Given the description of an element on the screen output the (x, y) to click on. 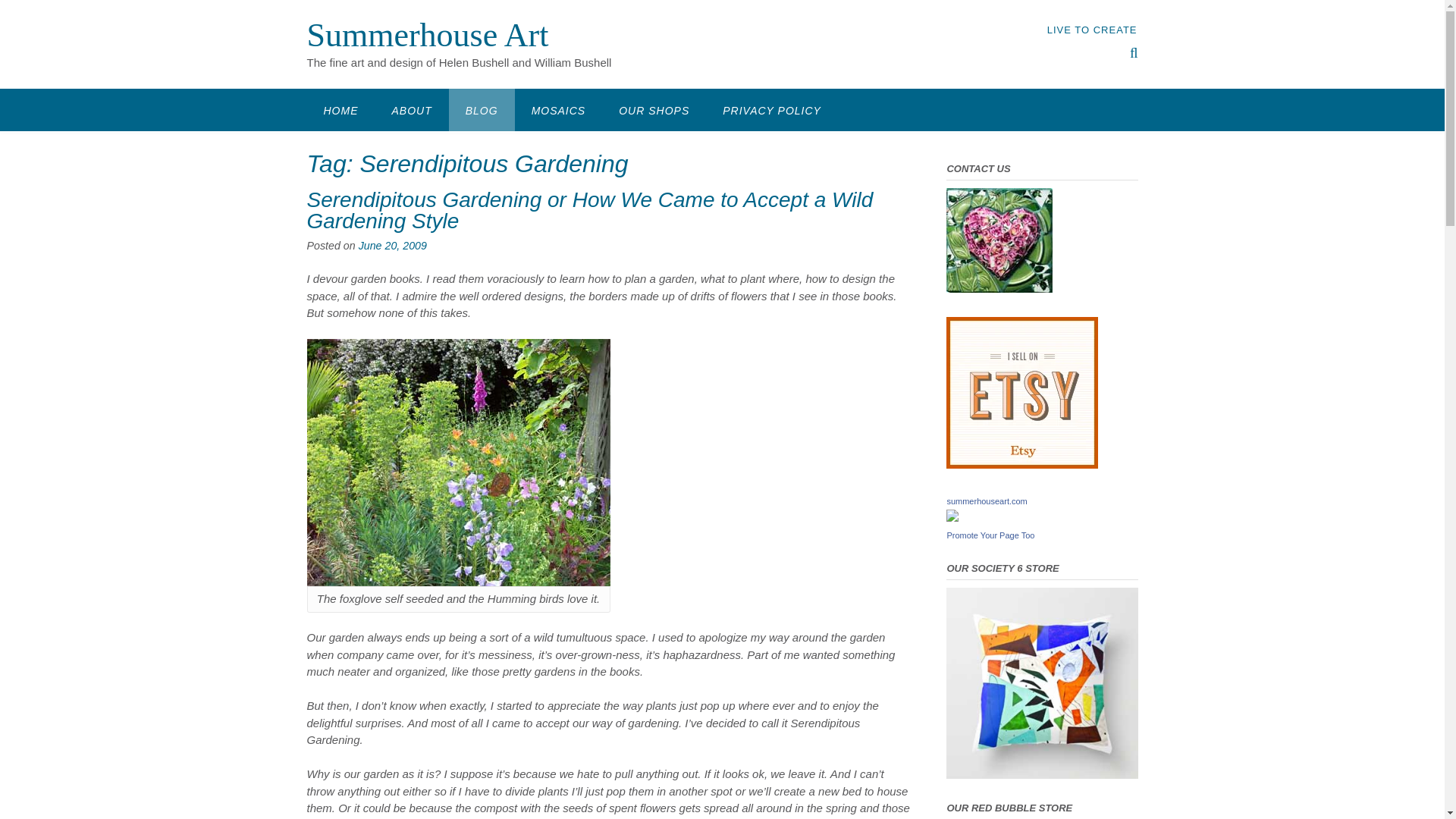
summerhouseart.com (986, 501)
euphorbia and foxglove (457, 462)
ABOUT (411, 109)
summerhouseart.com (986, 501)
PRIVACY POLICY (772, 109)
Summerhouse Art (426, 35)
contact us (999, 287)
MOSAICS (558, 109)
June 20, 2009 (392, 245)
BLOG (481, 109)
